Given the description of an element on the screen output the (x, y) to click on. 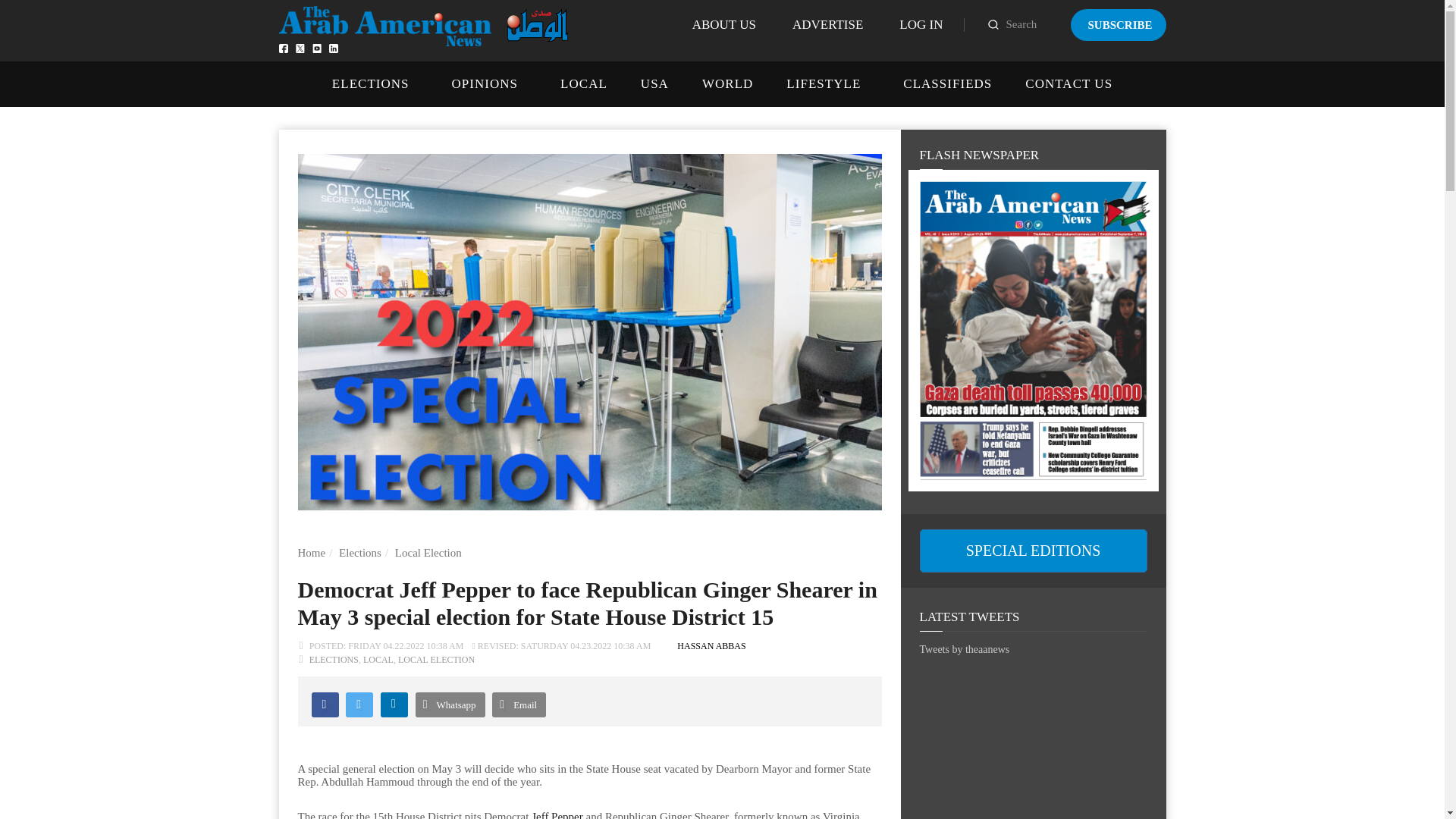
ELECTIONS (370, 83)
LOCAL (583, 83)
SUBSCRIBE (1118, 24)
Home (310, 552)
View all posts in Local (377, 659)
Update Article (560, 645)
ADVERTISE (827, 24)
WORLD (726, 83)
Elections (360, 552)
CONTACT US (1068, 83)
